Given the description of an element on the screen output the (x, y) to click on. 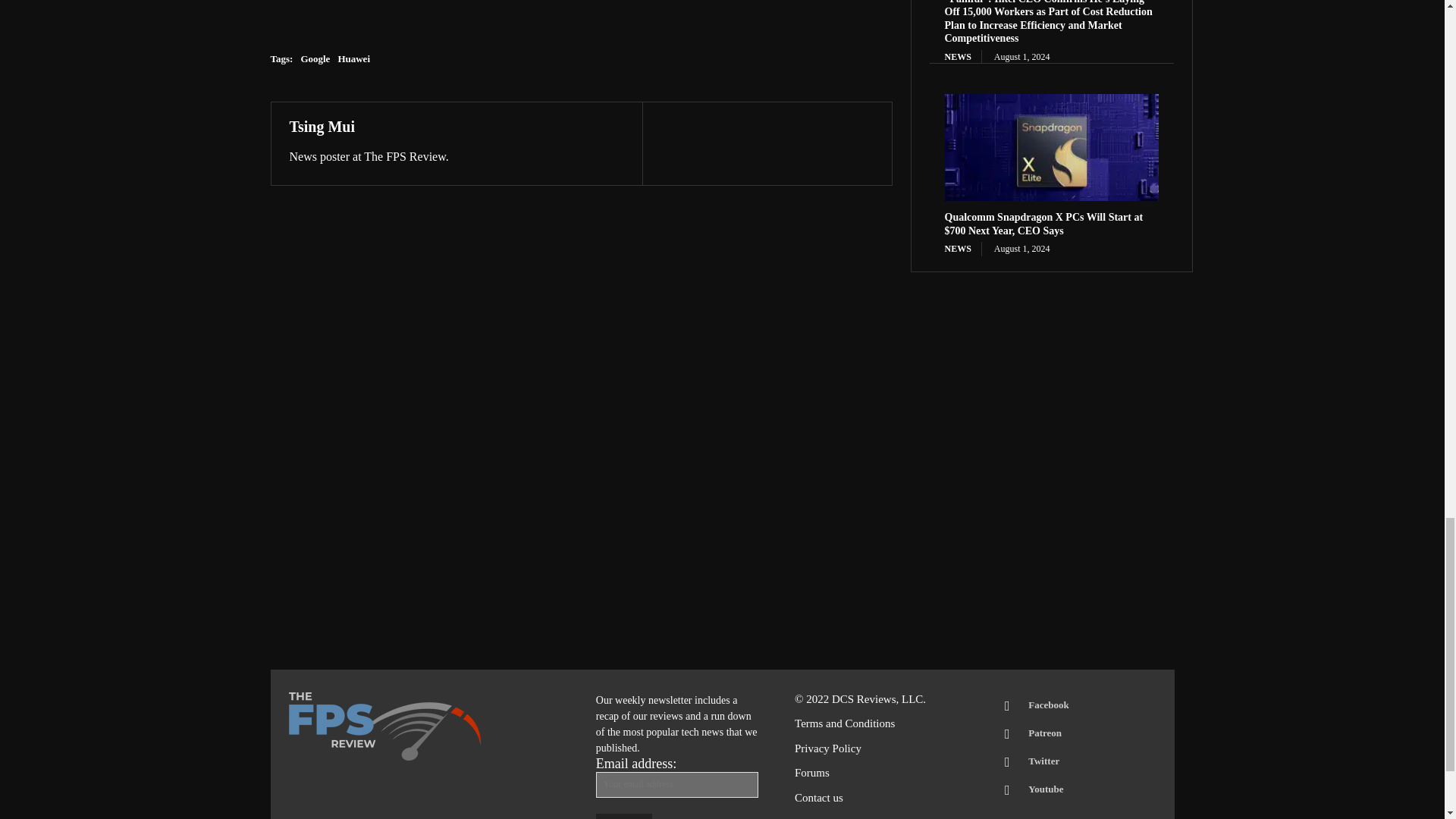
Sign up (623, 816)
